Given the description of an element on the screen output the (x, y) to click on. 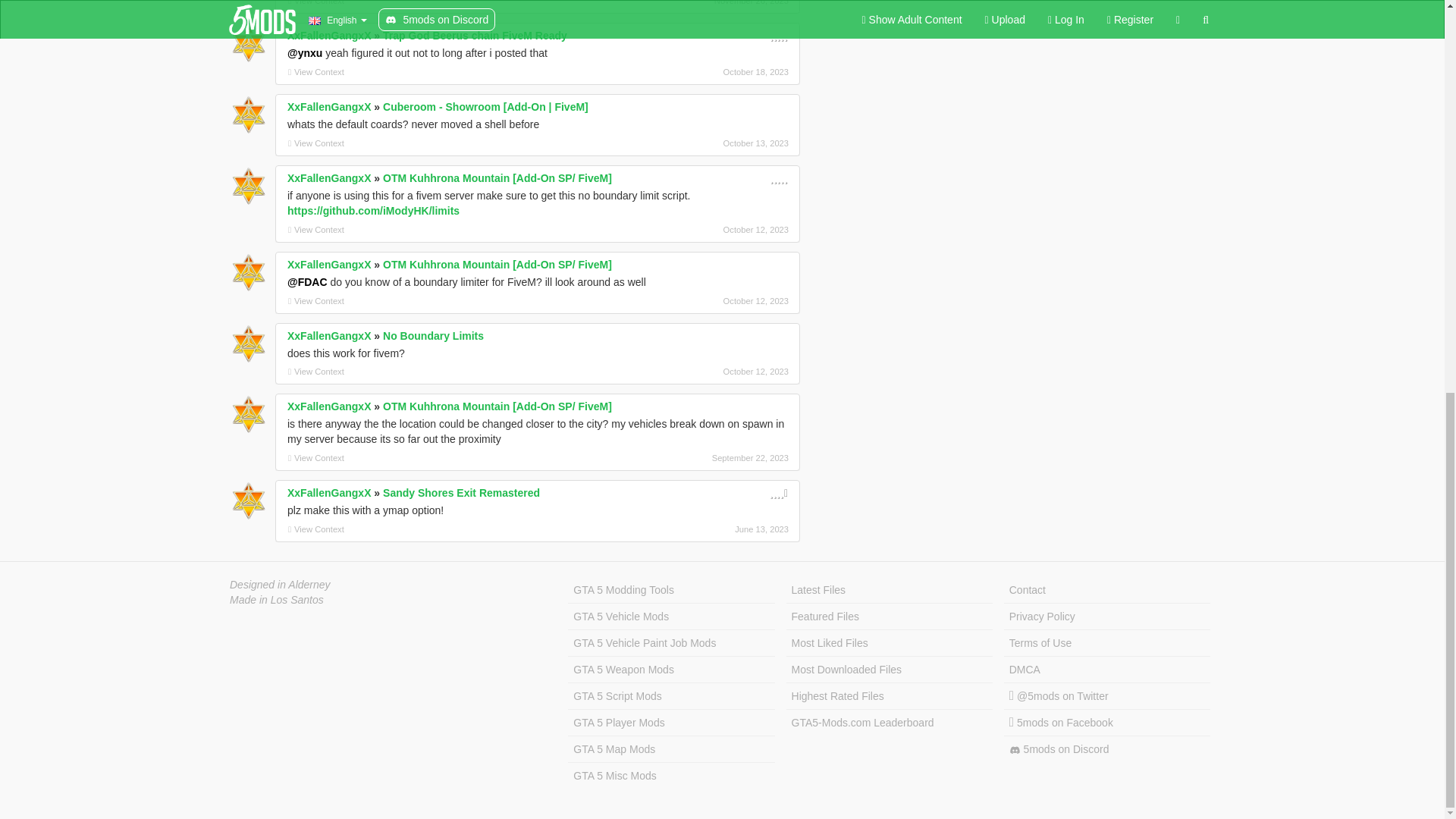
Awesome! (778, 177)
Awesome! (778, 35)
